Given the description of an element on the screen output the (x, y) to click on. 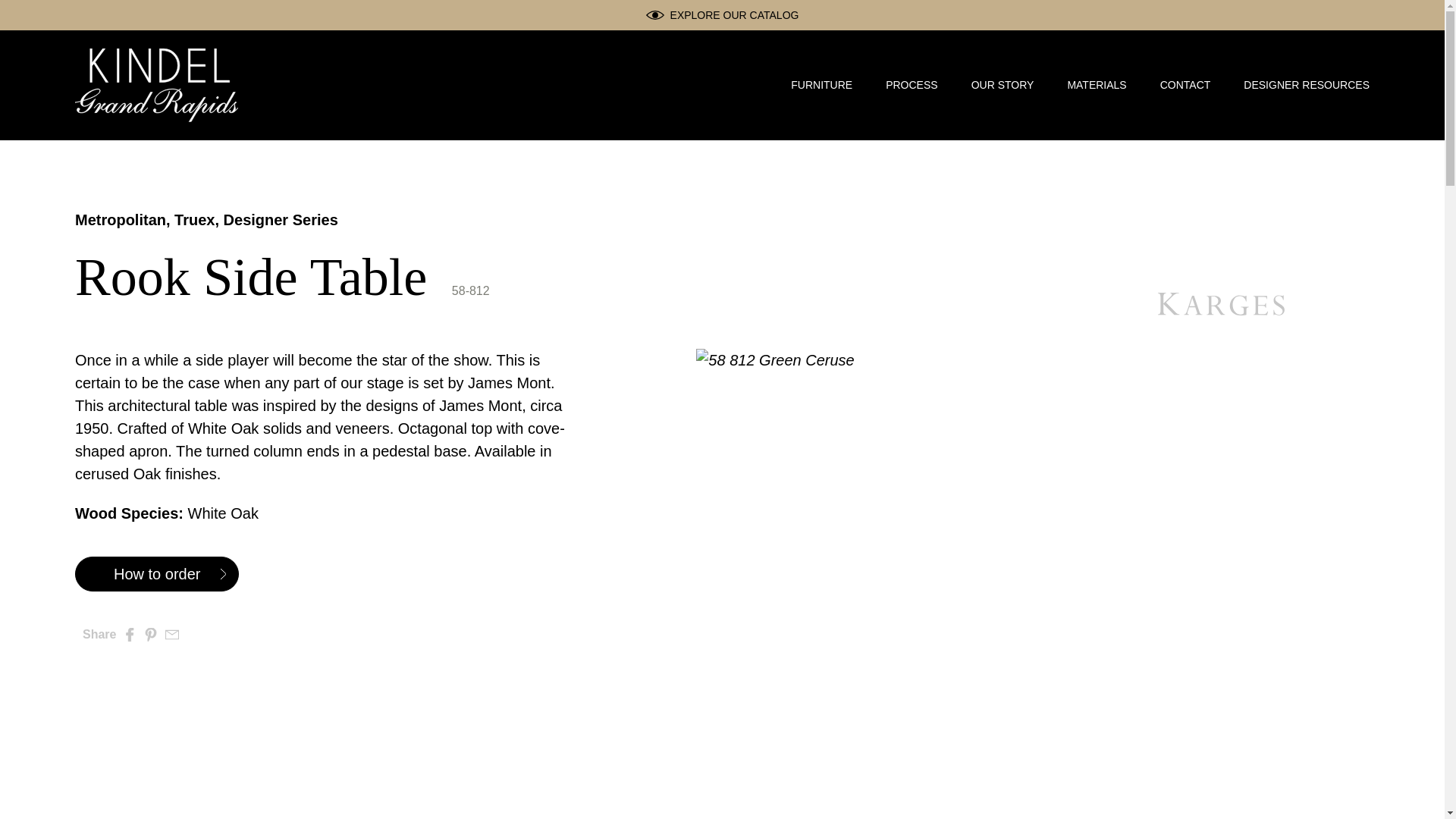
Skip to content (37, 9)
MATERIALS (1096, 84)
CONTACT (1185, 84)
How to order (157, 573)
PROCESS (911, 84)
OUR STORY (1002, 84)
DESIGNER RESOURCES (1306, 84)
FURNITURE (820, 84)
